Given the description of an element on the screen output the (x, y) to click on. 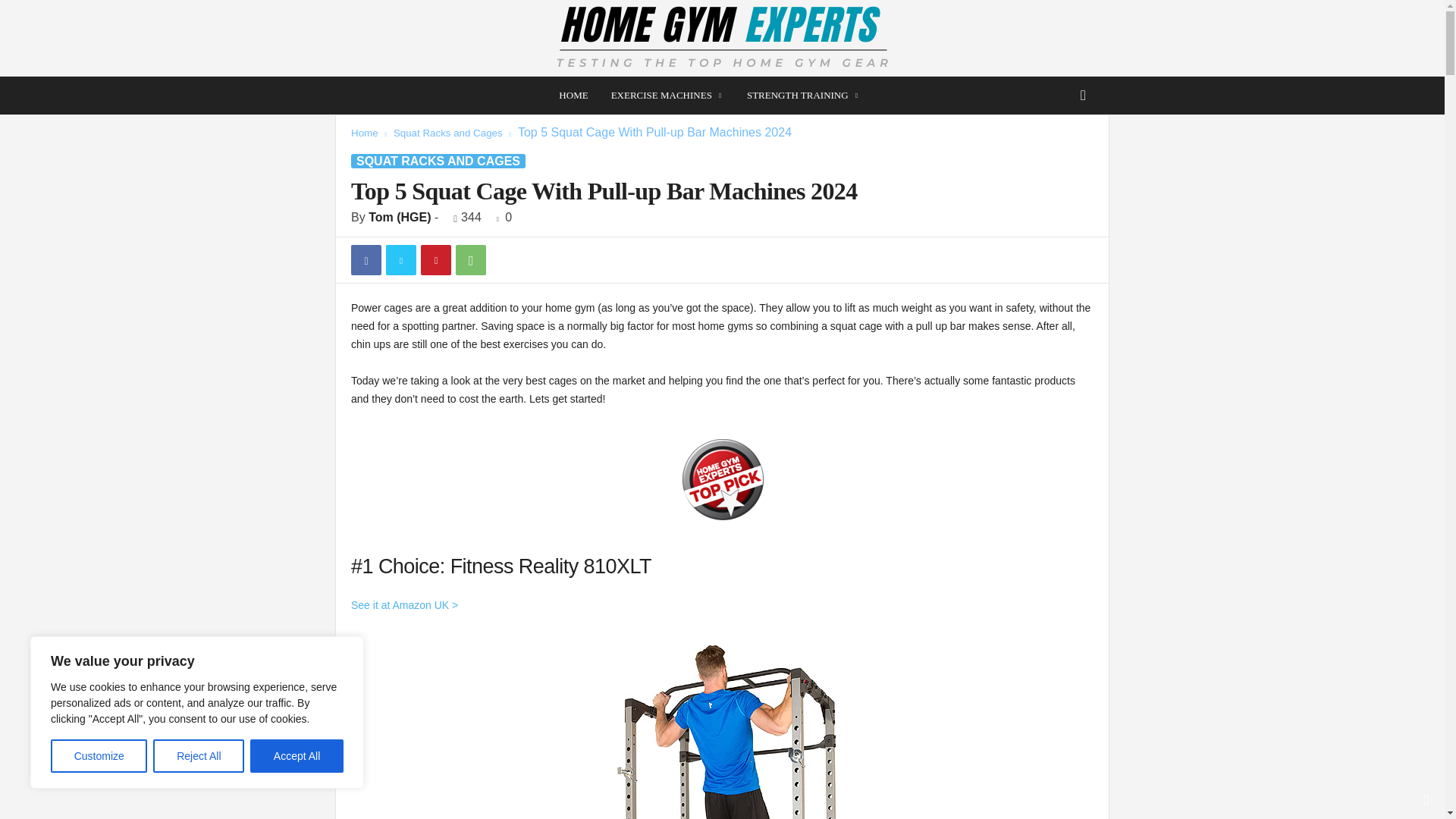
View all posts in Squat Racks and Cages (447, 132)
Customize (98, 756)
Facebook (365, 259)
Reject All (198, 756)
Pinterest (435, 259)
Accept All (296, 756)
WhatsApp (470, 259)
Twitter (400, 259)
